Given the description of an element on the screen output the (x, y) to click on. 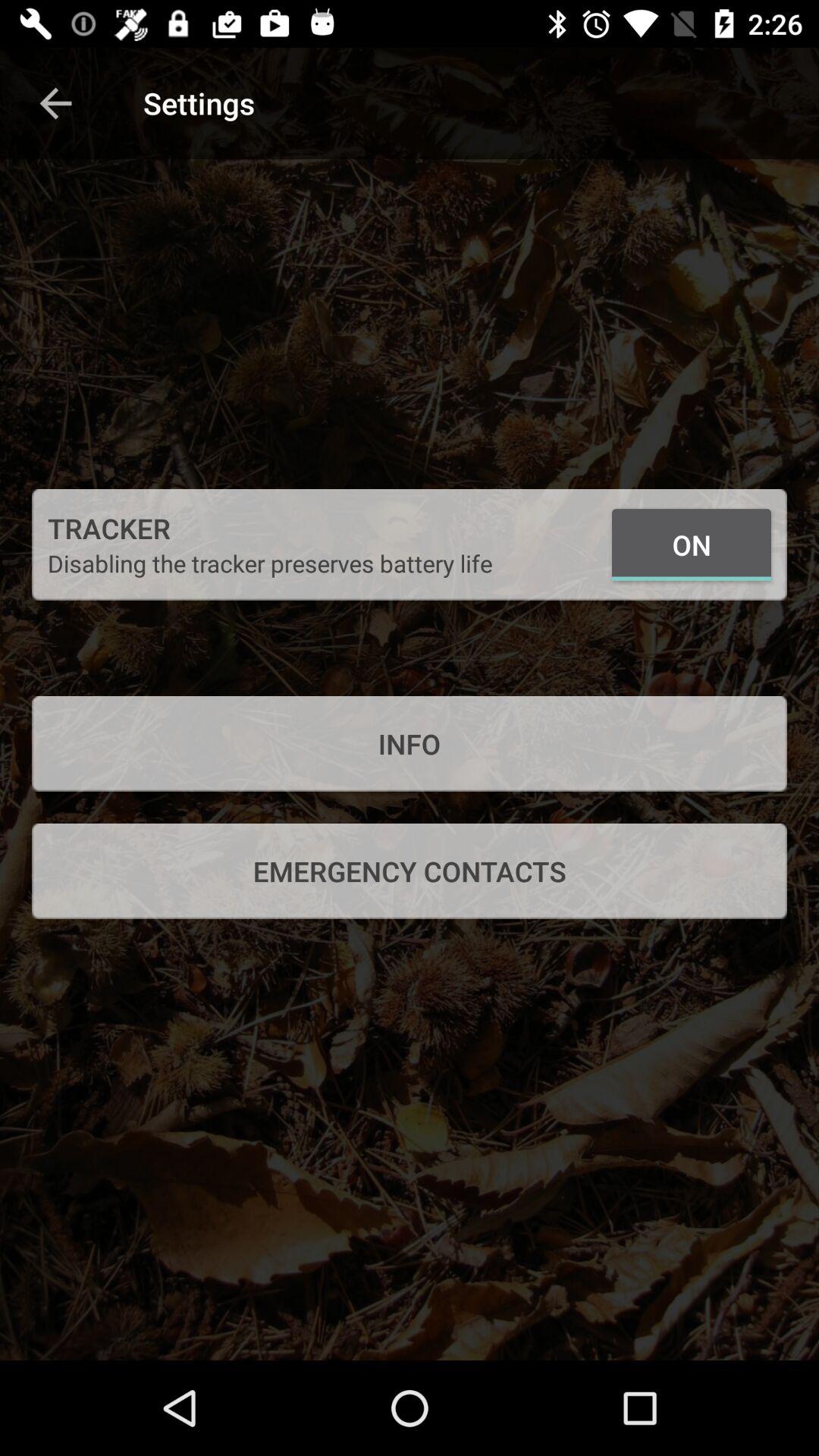
choose item next to settings icon (55, 103)
